Given the description of an element on the screen output the (x, y) to click on. 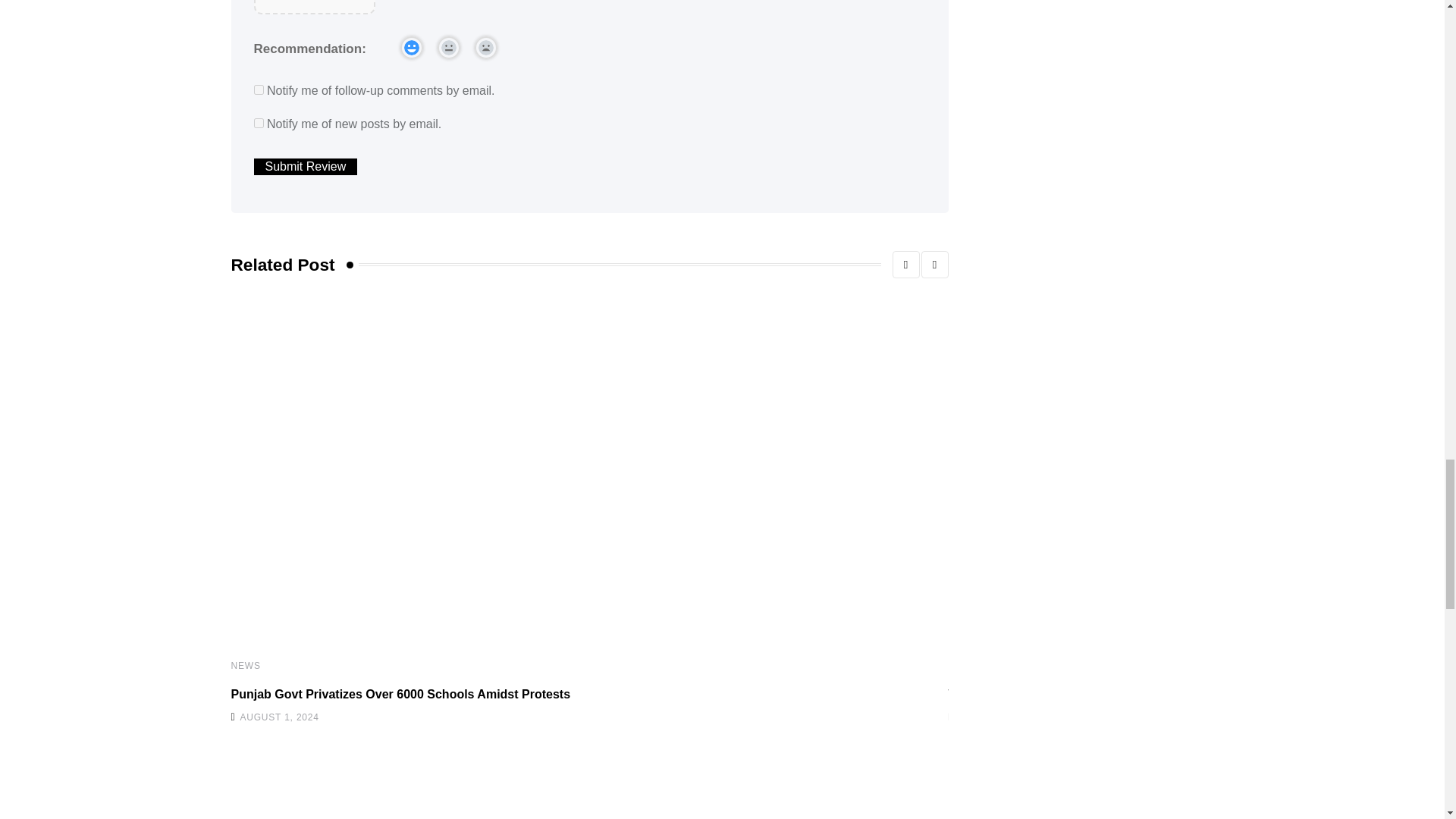
Submit Review (304, 166)
subscribe (258, 122)
subscribe (258, 90)
